Given the description of an element on the screen output the (x, y) to click on. 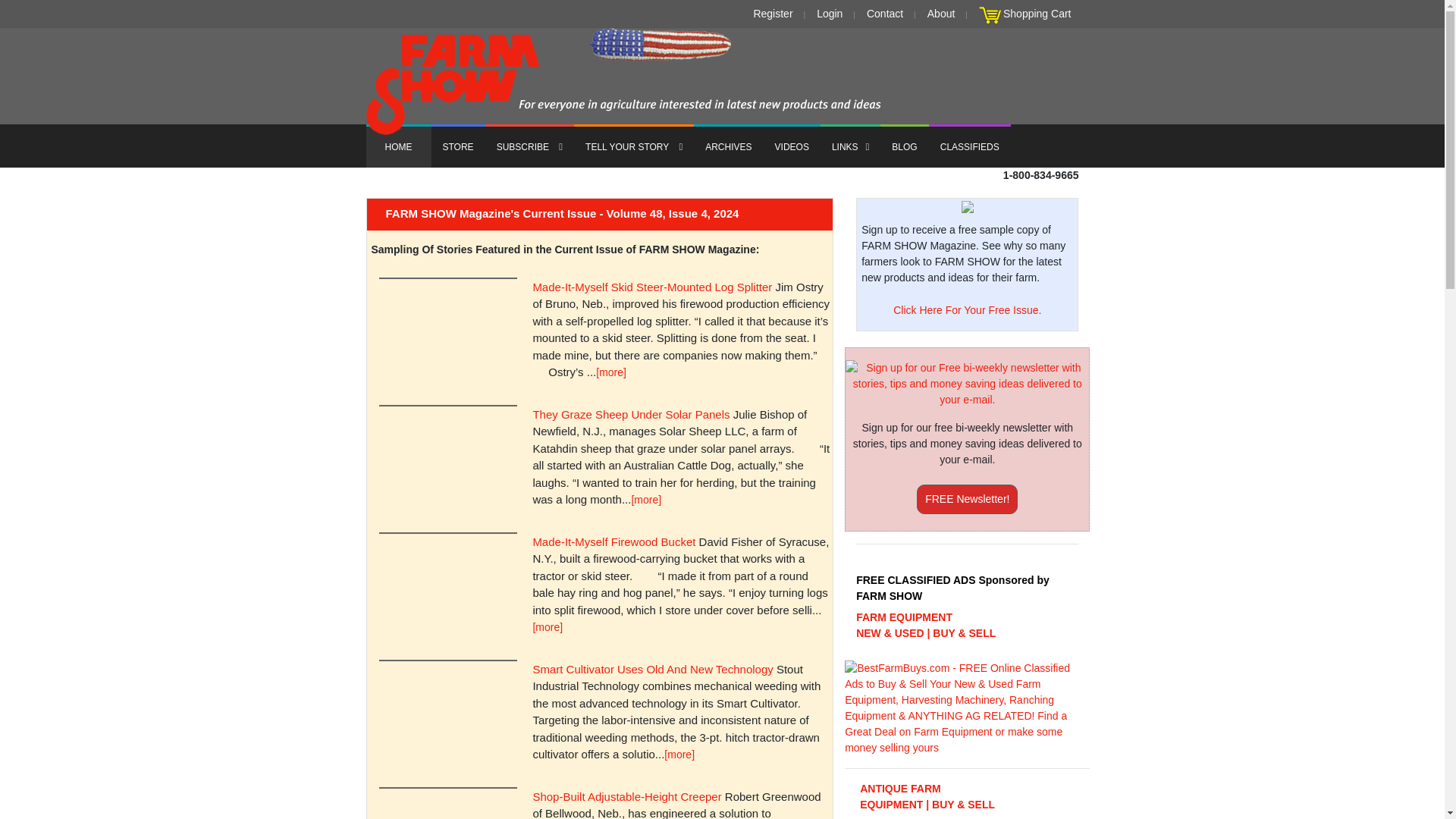
HOME (397, 145)
ARCHIVES (728, 145)
TELL YOUR STORY (633, 145)
BLOG (904, 145)
Register (772, 13)
Click to View Your Shopping Cart (989, 14)
LINKS (850, 145)
They Graze Sheep Under Solar Panels (630, 410)
STORE (457, 145)
About (941, 13)
CLASSIFIEDS (969, 145)
